Given the description of an element on the screen output the (x, y) to click on. 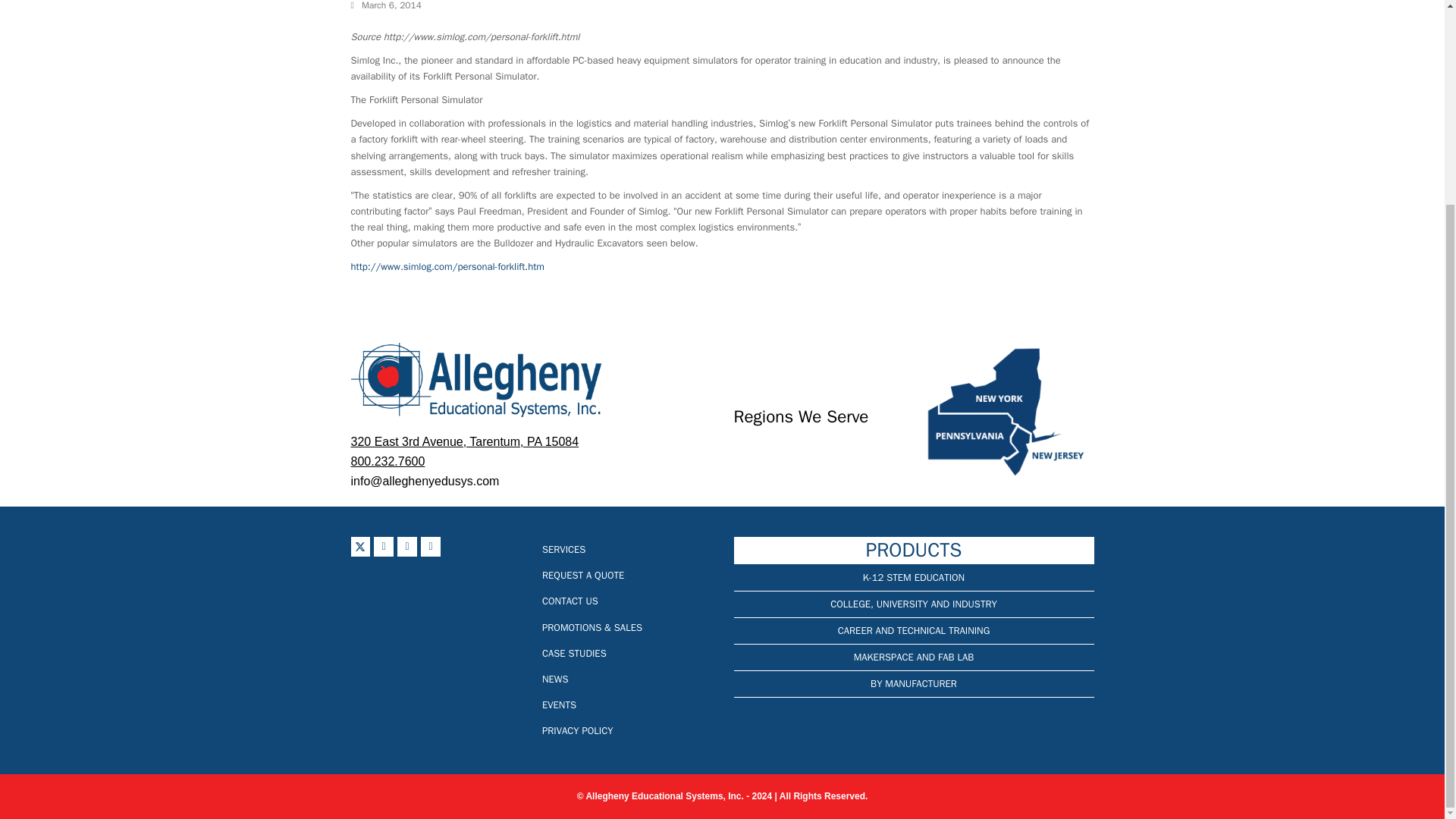
LinkedIn (430, 546)
Facebook (383, 546)
X Twitter (359, 546)
Pinterest (406, 546)
